Given the description of an element on the screen output the (x, y) to click on. 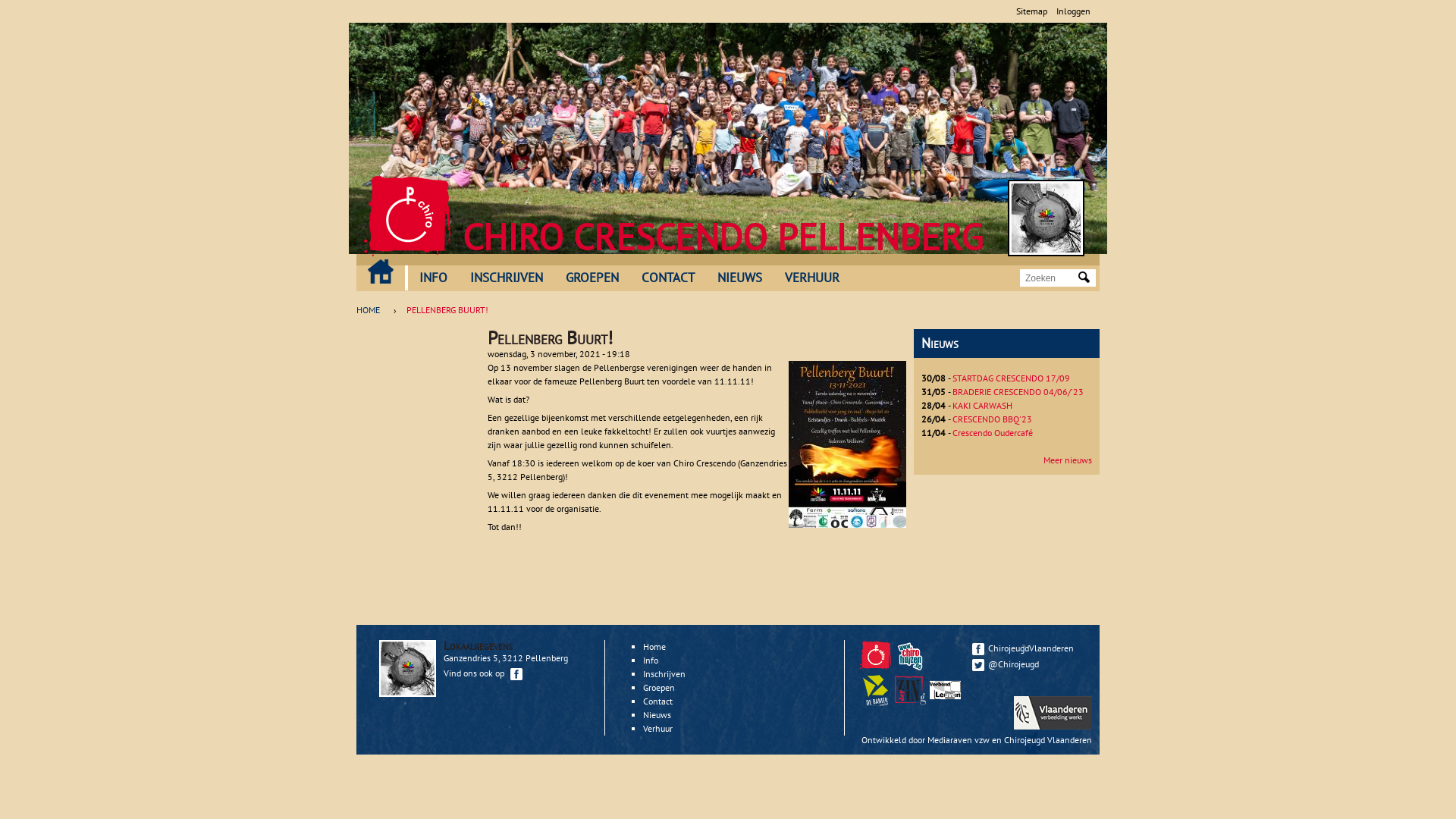
Chirojeugd Vlaanderen Element type: hover (876, 667)
@Chirojeugd Element type: text (1028, 663)
HOME Element type: text (371, 309)
Contact Element type: text (657, 700)
Nieuws Element type: text (657, 714)
Chirohuizen Element type: hover (911, 667)
Info Element type: text (650, 659)
De Banier Element type: hover (875, 690)
BRADERIE CRESCENDO 04/06/'23 Element type: text (1017, 391)
CRESCENDO BBQ'23 Element type: text (992, 418)
Verbond Leuven Element type: hover (944, 690)
Geef de woorden op waarnaar u wilt zoeken. Element type: hover (1049, 277)
De Banier Element type: hover (876, 702)
Facebook Element type: hover (516, 674)
NIEUWS Element type: text (739, 278)
VERHUUR Element type: text (811, 278)
INSCHRIJVEN Element type: text (506, 278)
Zindering Element type: hover (911, 702)
STARTDAG CRESCENDO 17/09 Element type: text (1011, 377)
CHIRO CRESCENDO PELLENBERG Element type: text (722, 236)
Chirohuizen Element type: hover (909, 655)
Chirojeugd Vlaanderen Element type: hover (875, 655)
KAKI CARWASH Element type: text (982, 405)
INFO Element type: text (432, 278)
Sitemap Element type: text (1031, 10)
Inschrijven Element type: text (664, 673)
Home Element type: hover (407, 215)
CONTACT Element type: text (668, 278)
ChirojeugdVlaanderen Element type: text (1028, 647)
Verhuur Element type: text (657, 728)
Home Element type: hover (1045, 217)
Facebook Element type: hover (978, 649)
Zindering Element type: hover (909, 690)
Groepen Element type: text (658, 687)
Chirojeugd Vlaanderen Element type: text (1048, 739)
Mediaraven vzw Element type: text (958, 739)
Inloggen Element type: text (1073, 10)
Meer nieuws Element type: text (1067, 459)
Pellenberg Buurt! Element type: hover (847, 524)
Twitter Element type: hover (978, 664)
GROEPEN Element type: text (592, 278)
Home Element type: text (654, 646)
Zindering Element type: hover (946, 702)
HOME Element type: text (380, 271)
